Given the description of an element on the screen output the (x, y) to click on. 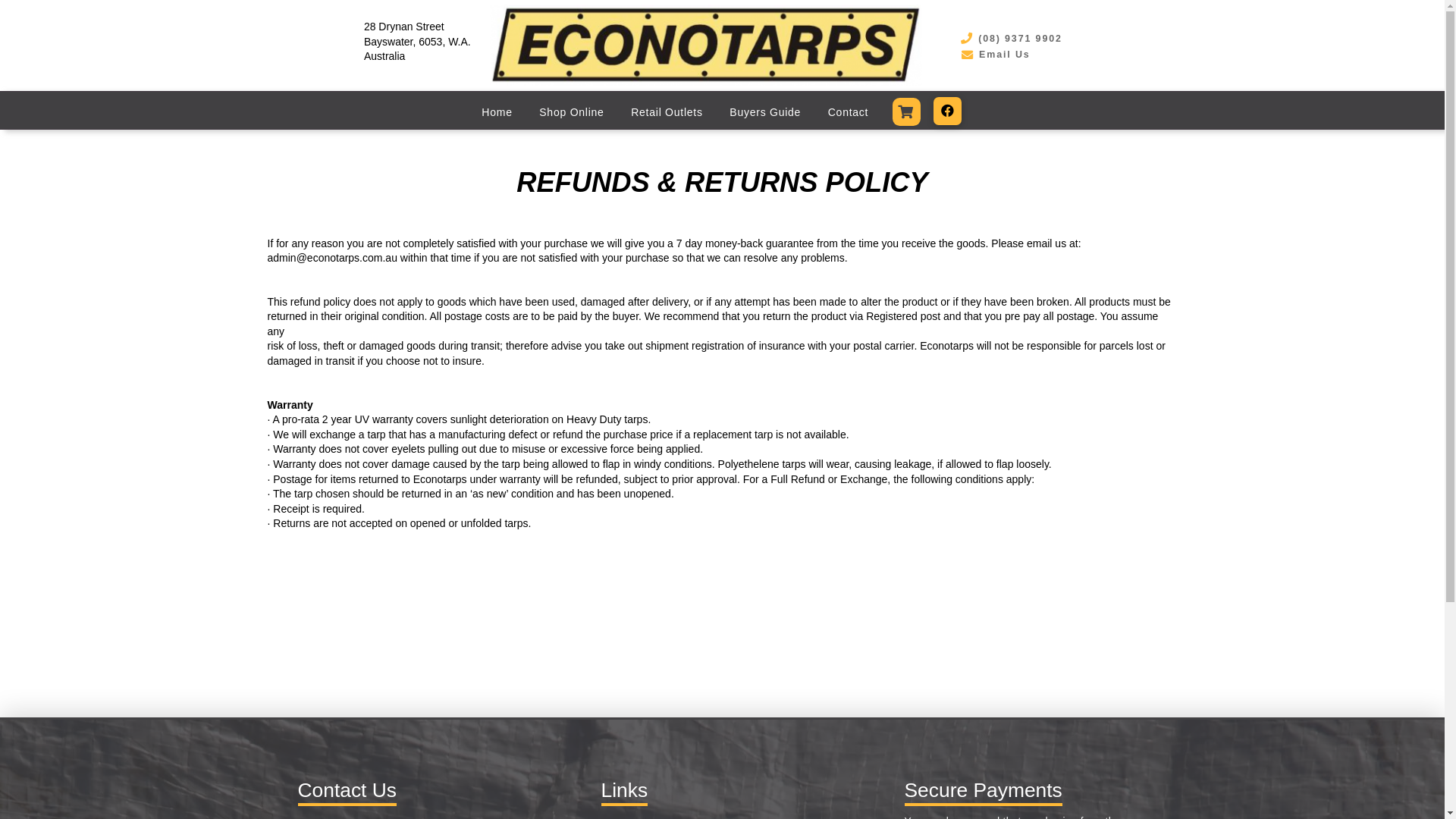
(08) 9371 9902 Element type: text (1010, 38)
Shop Online Element type: text (571, 111)
Home Element type: text (496, 111)
Buyers Guide Element type: text (764, 111)
Retail Outlets Element type: text (666, 111)
Email Us Element type: text (995, 54)
Contact Element type: text (847, 111)
